Given the description of an element on the screen output the (x, y) to click on. 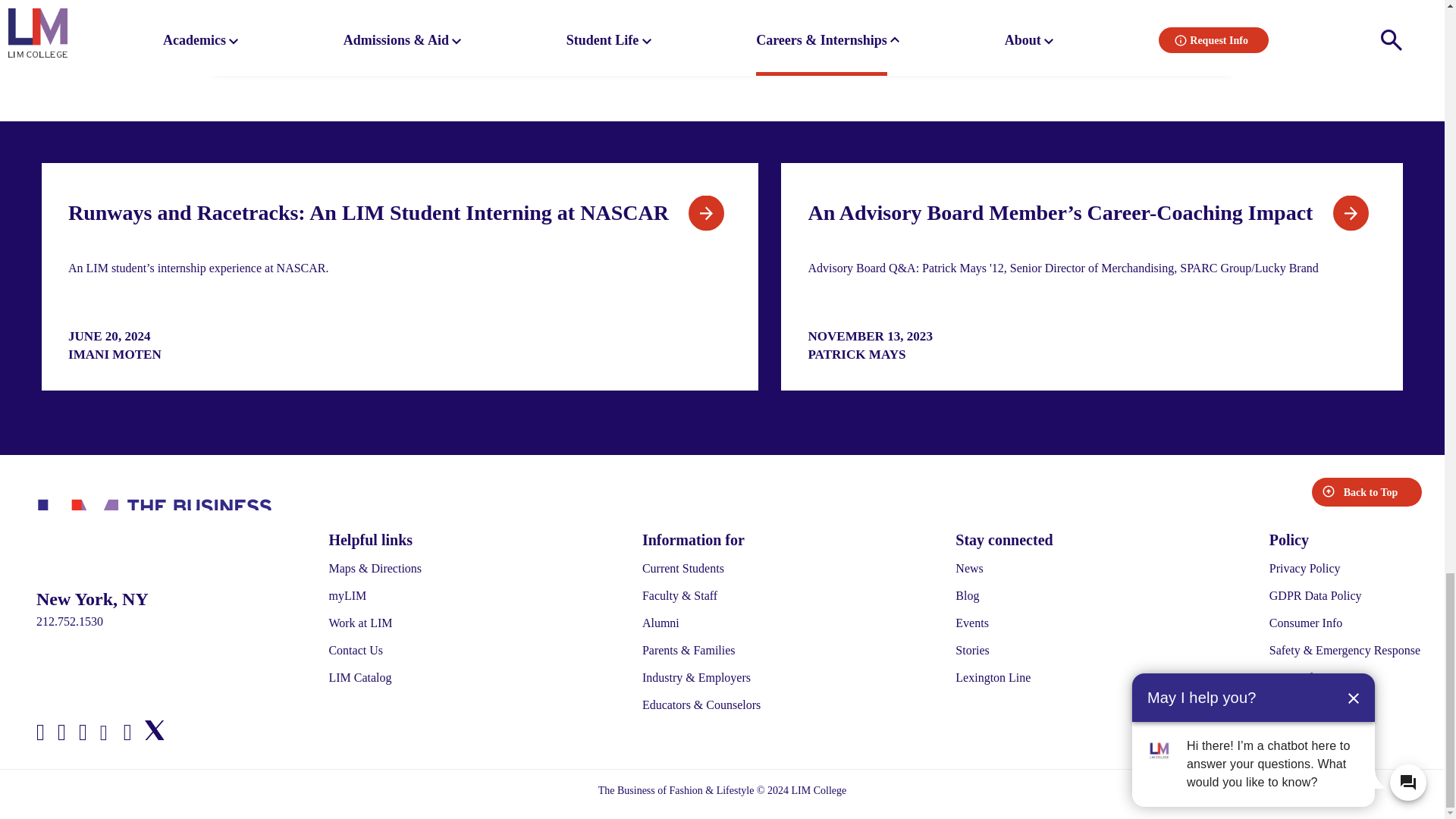
Call Us (177, 621)
